Given the description of an element on the screen output the (x, y) to click on. 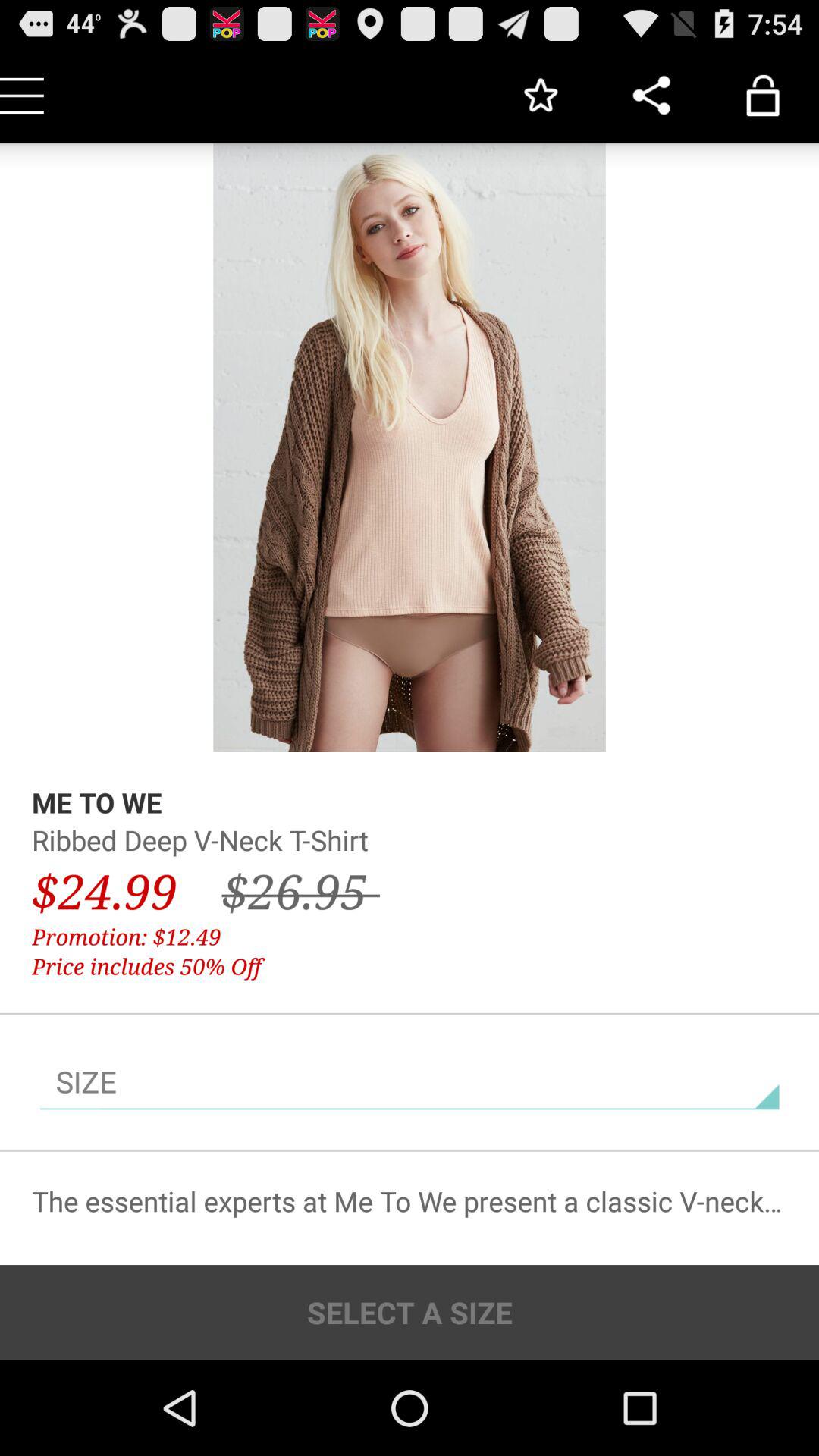
select the start symbol (540, 95)
select the lock symbol which is on top left (763, 95)
